Given the description of an element on the screen output the (x, y) to click on. 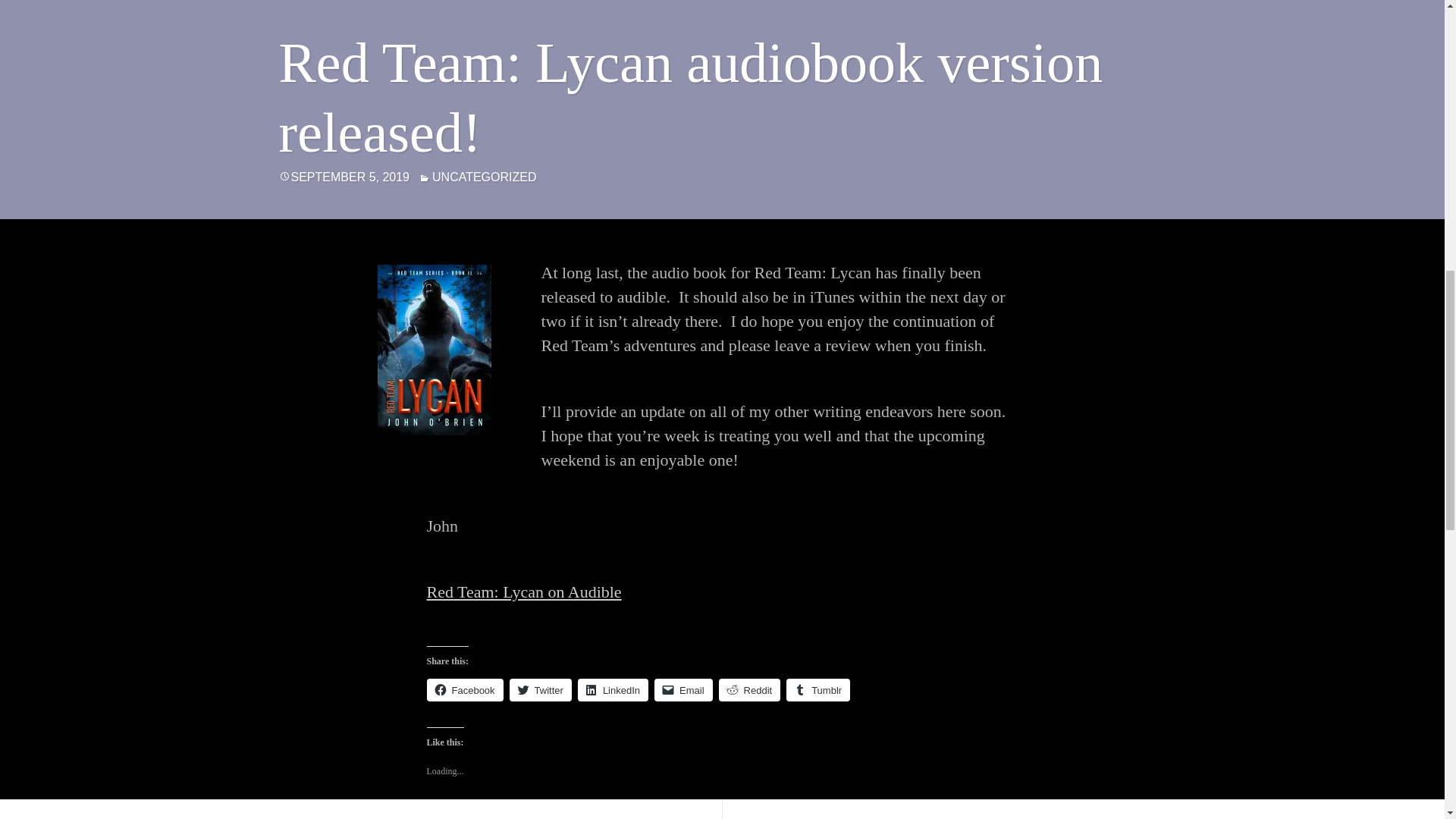
Twitter (540, 689)
Click to email a link to a friend (683, 689)
Click to share on Tumblr (818, 689)
Click to share on Reddit (749, 689)
Click to share on LinkedIn (612, 689)
Tumblr (818, 689)
Click to share on Twitter (540, 689)
Reddit (749, 689)
Facebook (464, 689)
Click to share on Facebook (464, 689)
Red Team: Lycan on Audible (523, 591)
SEPTEMBER 5, 2019 (350, 176)
UNCATEGORIZED (483, 176)
Email (683, 689)
LinkedIn (612, 689)
